Given the description of an element on the screen output the (x, y) to click on. 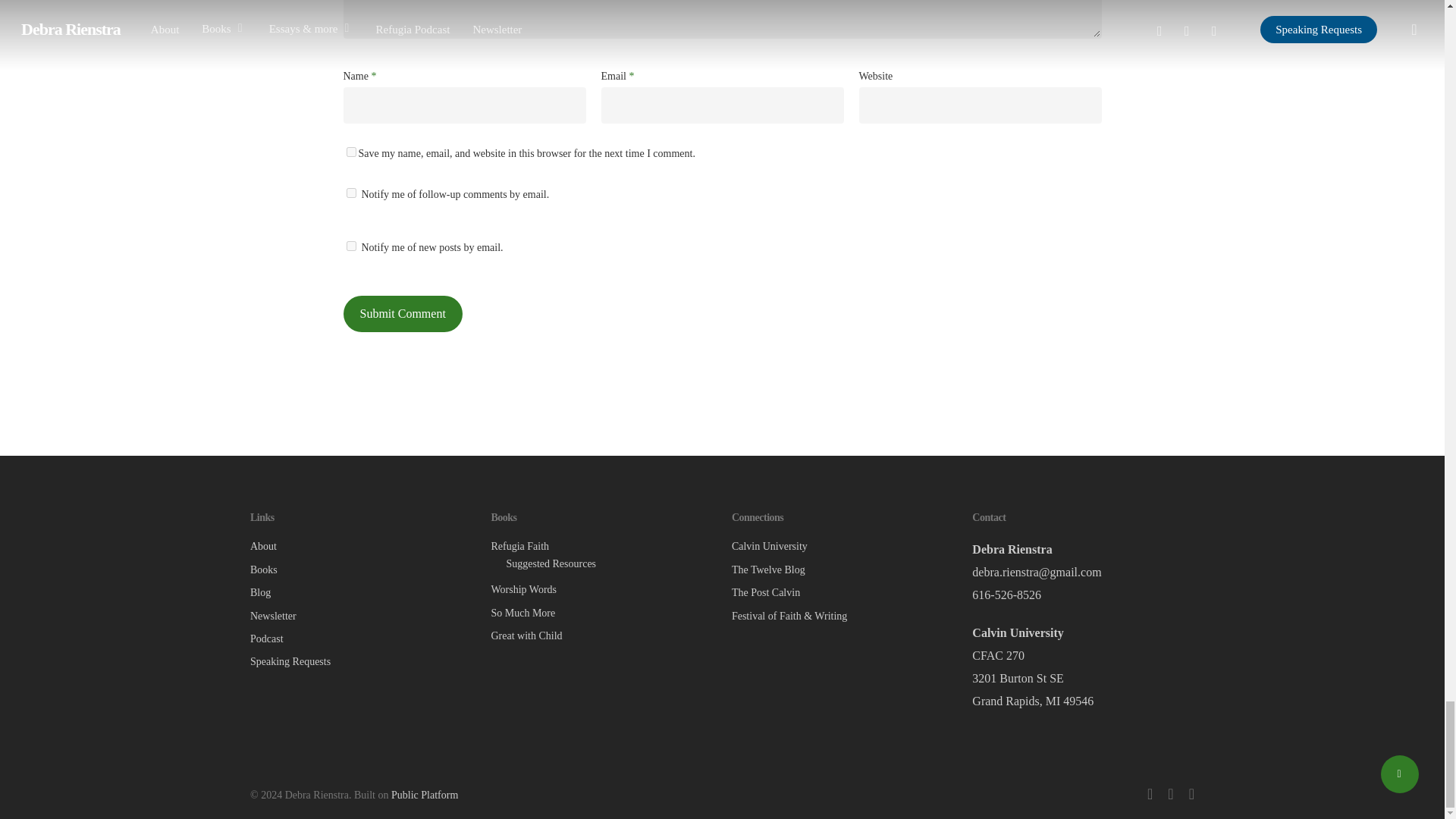
yes (350, 152)
subscribe (350, 245)
subscribe (350, 193)
Submit Comment (401, 313)
